Given the description of an element on the screen output the (x, y) to click on. 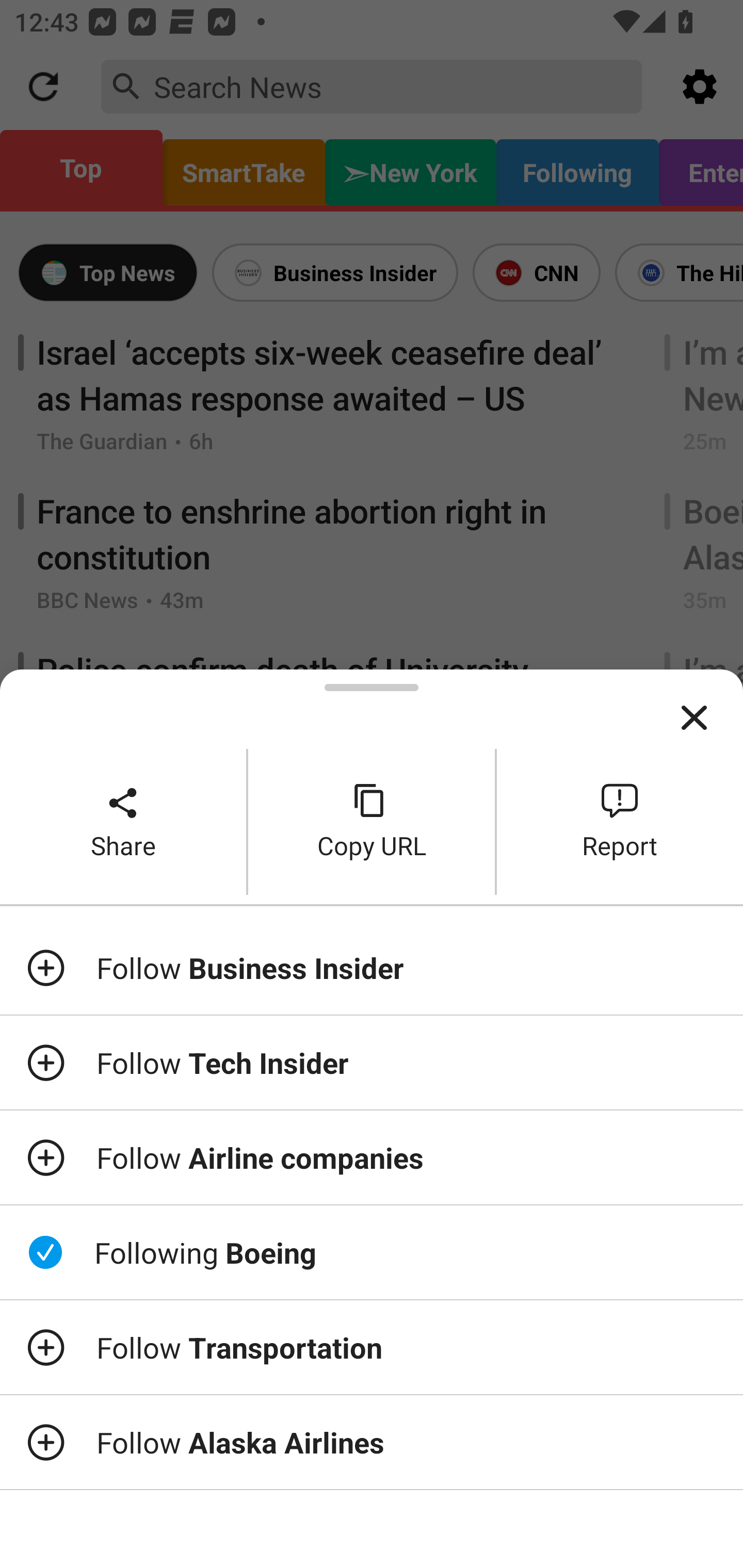
Close (694, 717)
Share (122, 822)
Copy URL (371, 822)
Report (620, 822)
Follow Business Insider (371, 967)
Follow Tech Insider (371, 1063)
Follow Airline companies (371, 1157)
Following Boeing (371, 1252)
Follow Transportation (371, 1346)
Follow Alaska Airlines (371, 1442)
